Given the description of an element on the screen output the (x, y) to click on. 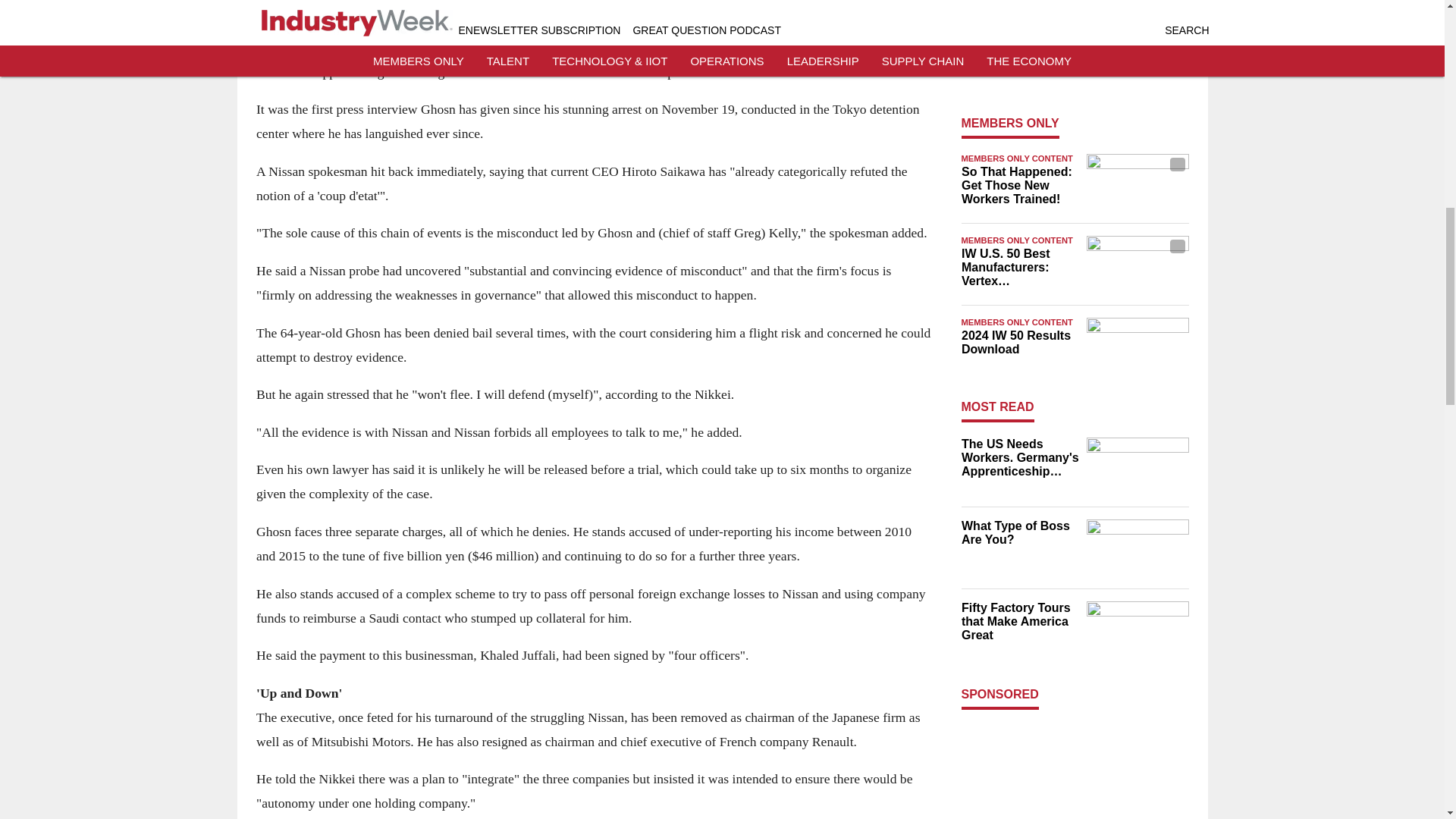
So That Happened: Get Those New Workers Trained! (1019, 185)
2024 IW 50 Results Download (1019, 342)
MEMBERS ONLY (1009, 123)
